Given the description of an element on the screen output the (x, y) to click on. 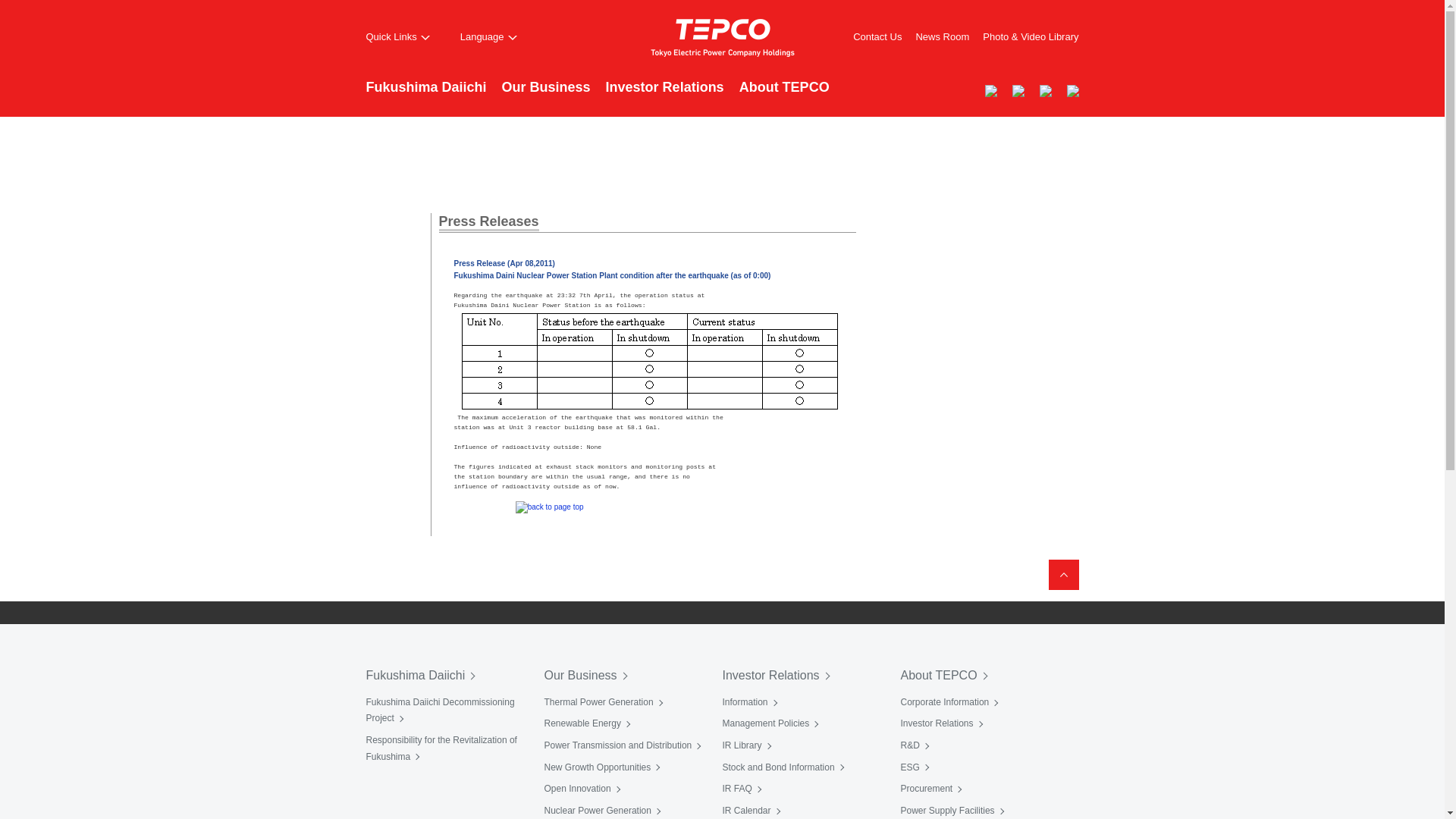
Contact Us (877, 36)
Fukushima Daiichi (425, 95)
Language (488, 37)
Quick Links (397, 37)
News Room (942, 36)
search (933, 89)
